Given the description of an element on the screen output the (x, y) to click on. 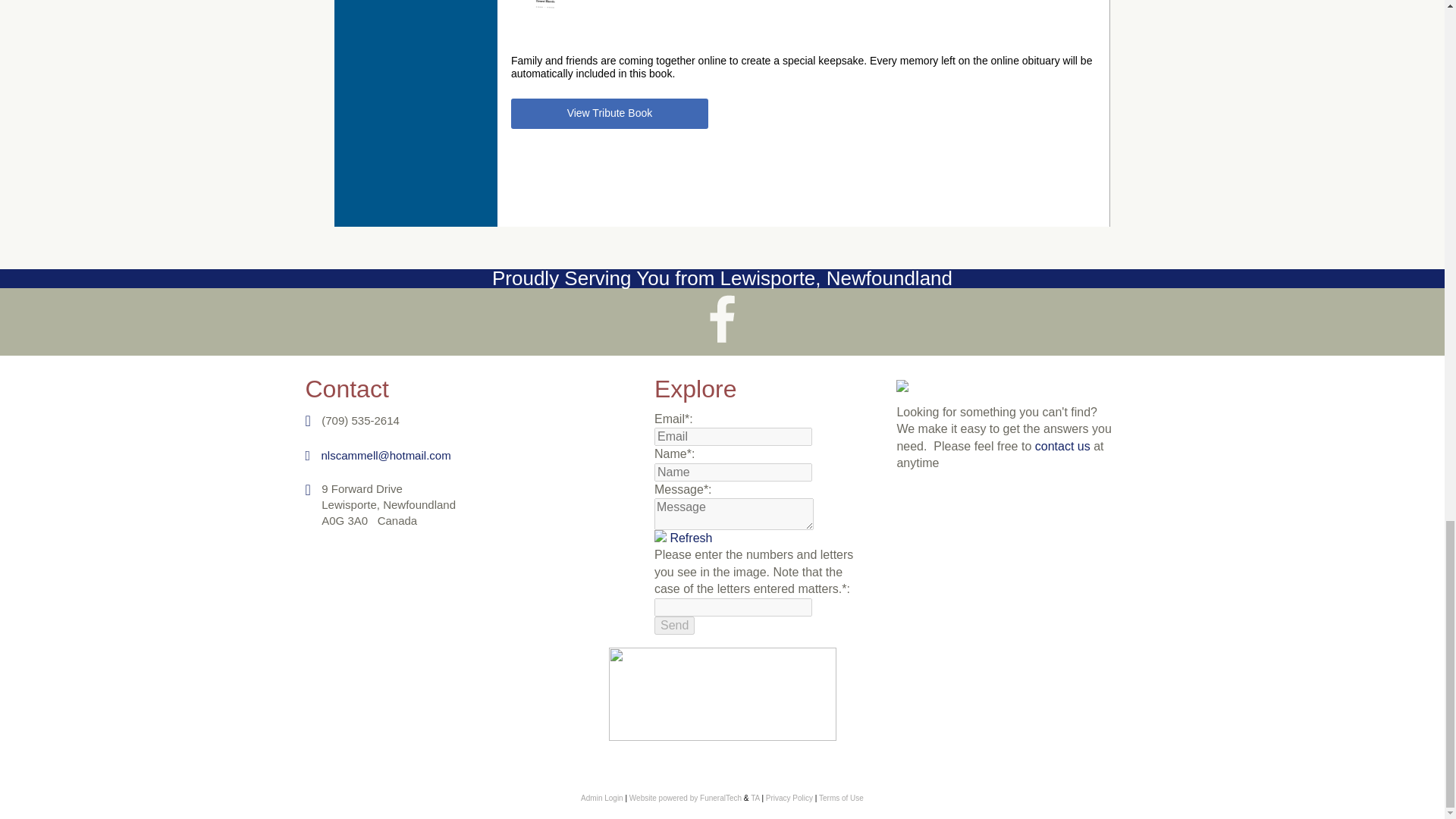
View Tribute Book (609, 113)
Send (673, 625)
